Given the description of an element on the screen output the (x, y) to click on. 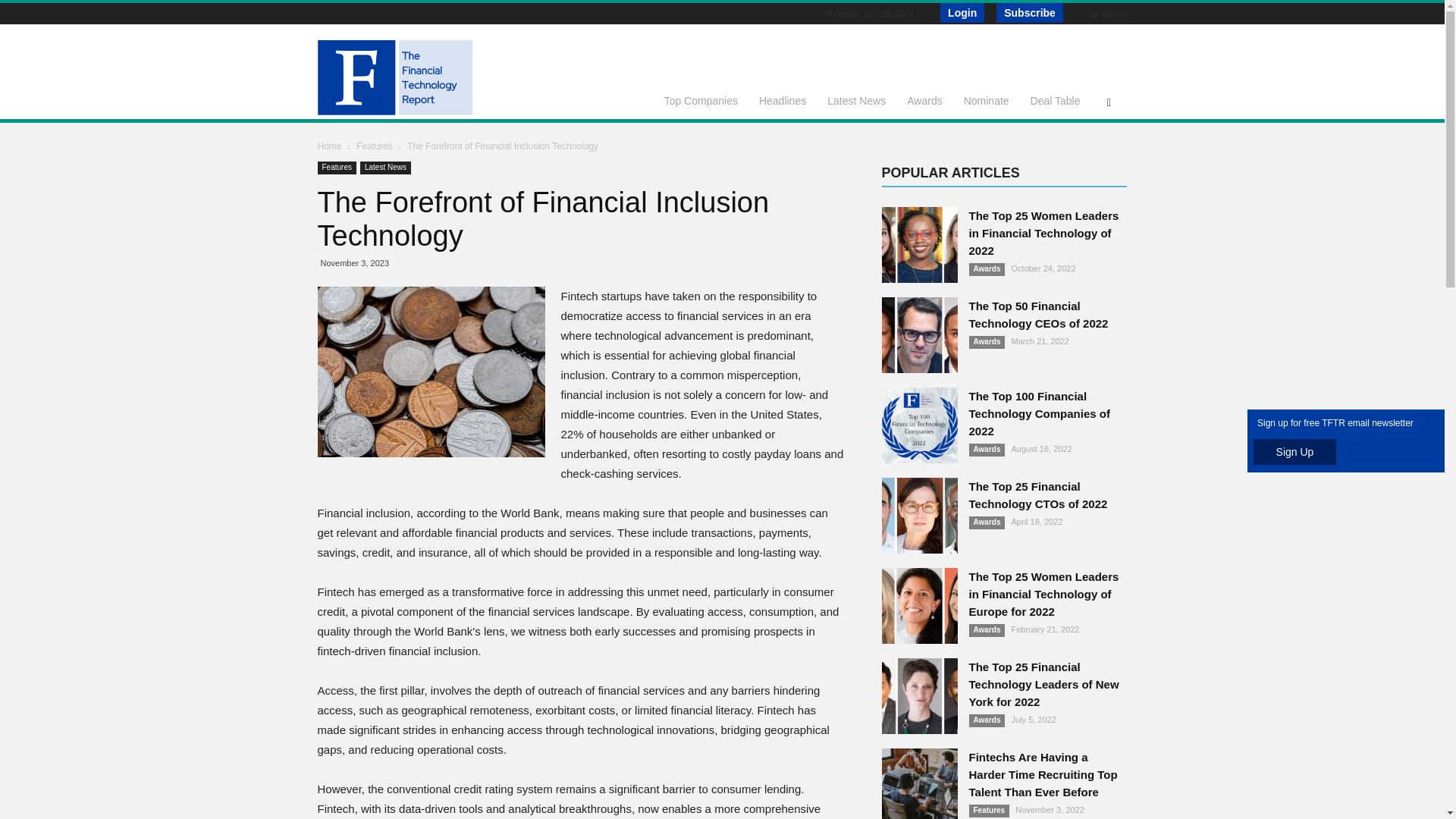
The Financial Technology Report. (424, 80)
Awards (924, 100)
Headlines (782, 100)
Home (328, 145)
Deal Table (1055, 100)
Sign Up (1294, 451)
Latest News (856, 100)
Contact us (1106, 13)
Top Companies (700, 100)
Latest News (384, 167)
Login (962, 12)
Nominate (986, 100)
Subscribe (1028, 12)
Features (375, 145)
Features (336, 167)
